Given the description of an element on the screen output the (x, y) to click on. 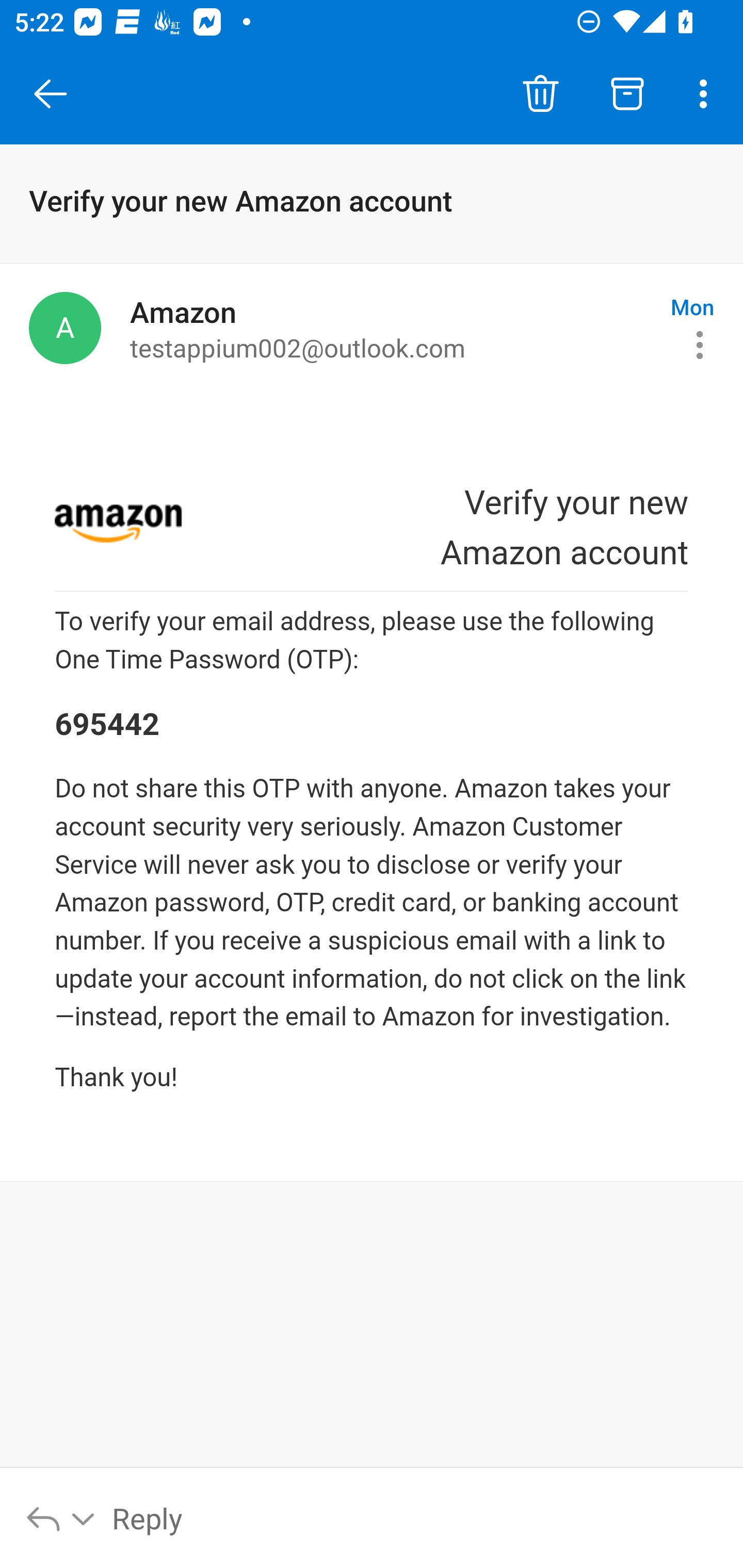
Close (50, 93)
Delete (540, 93)
Archive (626, 93)
More options (706, 93)
Amazon, account-update@amazon.com (64, 327)
Amazon
to testappium002@outlook.com (393, 328)
Message actions (699, 344)
Reply options (61, 1517)
